Given the description of an element on the screen output the (x, y) to click on. 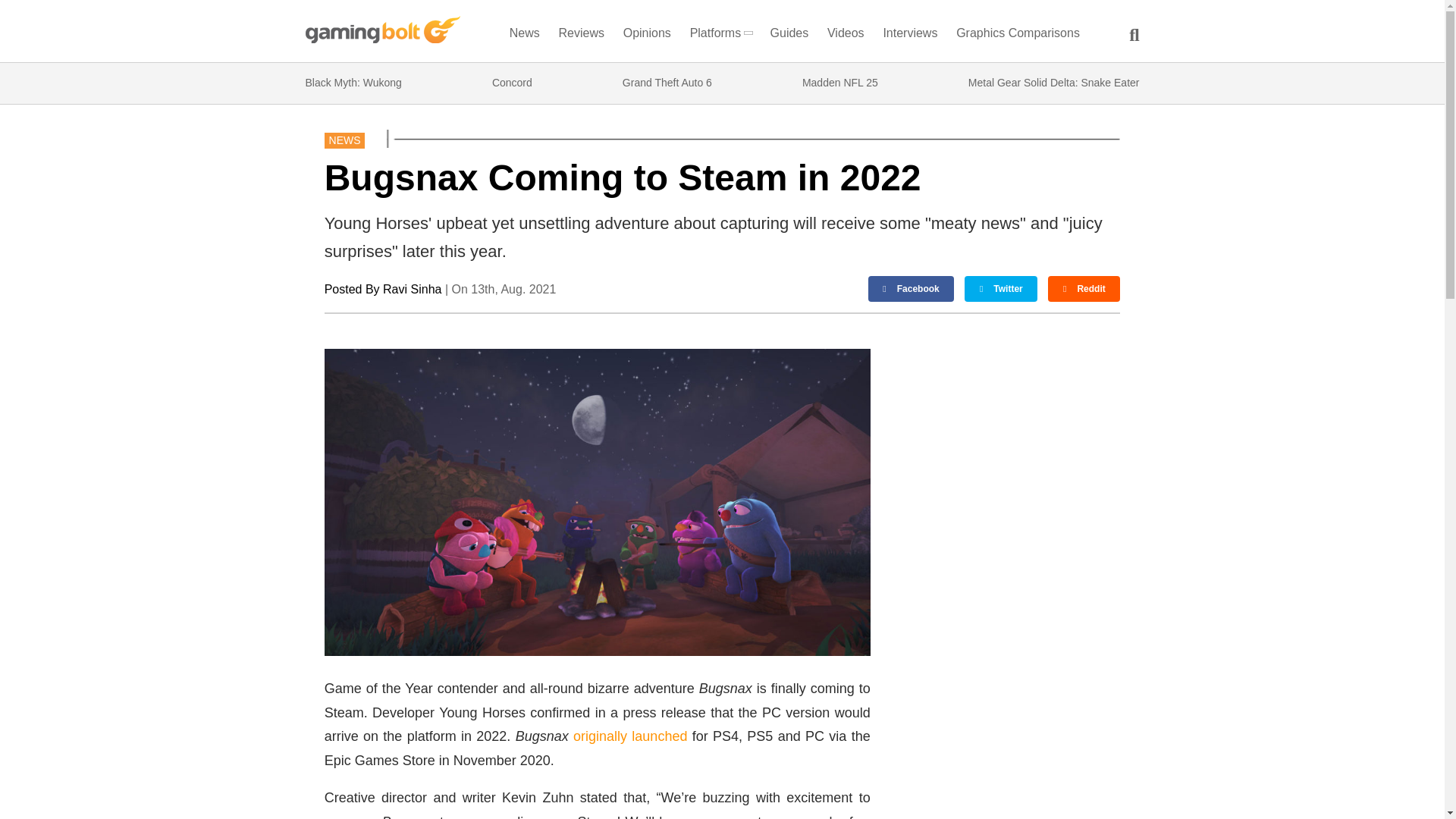
Grand Theft Auto 6 (667, 82)
Black Myth: Wukong (352, 82)
News (524, 36)
Madden NFL 25 (839, 82)
Metal Gear Solid Delta: Snake Eater (1054, 82)
Concord (512, 82)
originally launched (630, 735)
Opinions (647, 36)
NEWS (345, 140)
Guides (789, 36)
